Given the description of an element on the screen output the (x, y) to click on. 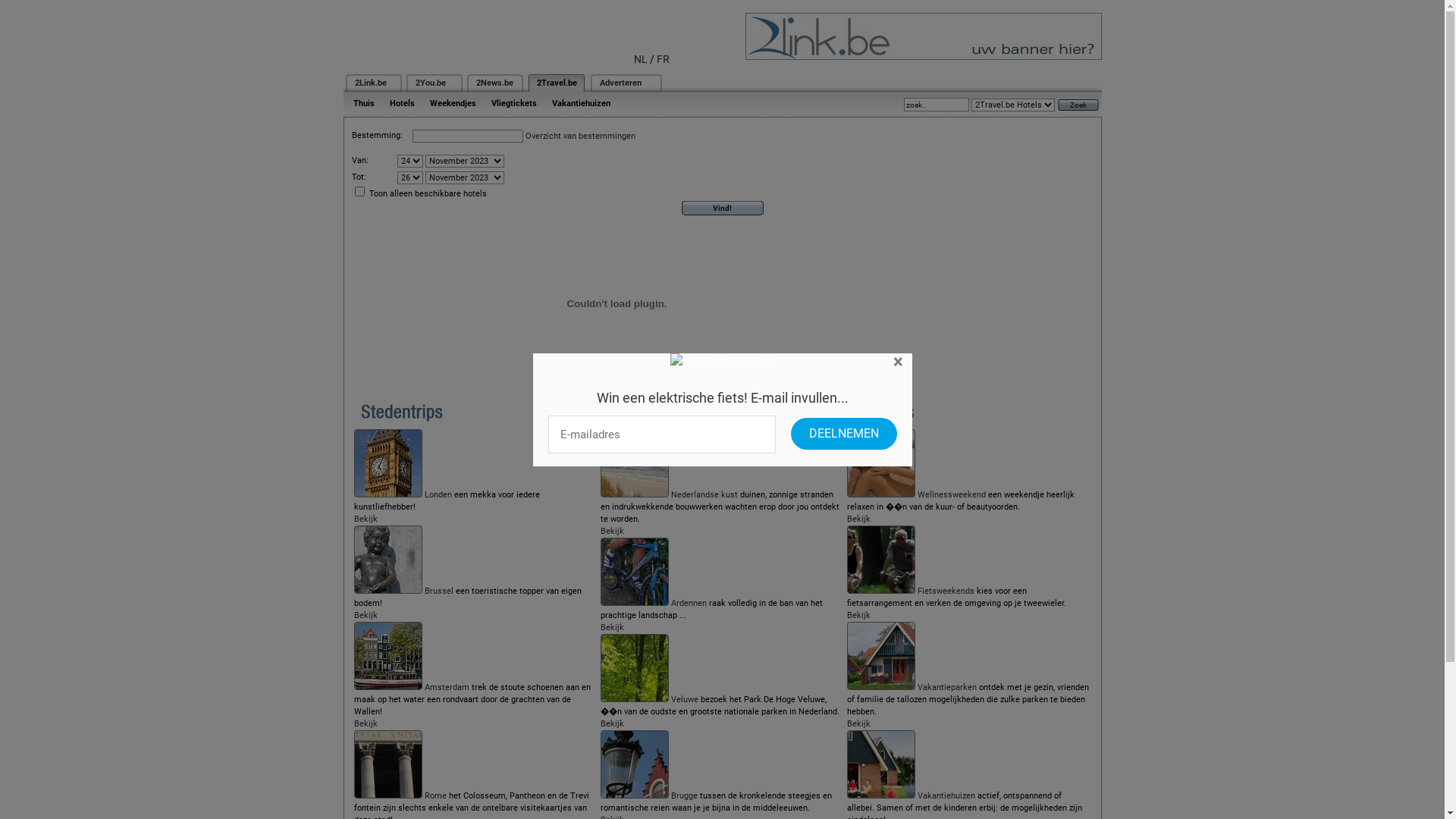
FR Element type: text (662, 59)
Bekijk Element type: text (612, 531)
Wellnessweekend Element type: text (951, 494)
Bekijk Element type: text (364, 519)
Overzicht van bestemmingen Element type: text (579, 136)
Nederlandse kust Element type: text (704, 494)
Hotels Element type: text (402, 103)
NL Element type: text (640, 59)
Vakantiehuizen Element type: text (946, 795)
Brussel Element type: text (438, 591)
Veluwe Element type: text (684, 699)
Vind! Element type: text (722, 207)
Bekijk Element type: text (612, 627)
2News.be Element type: text (494, 82)
Londen Element type: text (437, 494)
Vliegtickets Element type: text (513, 103)
Bekijk Element type: text (858, 723)
Bekijk Element type: text (858, 519)
Amsterdam Element type: text (446, 687)
Weekendjes Element type: text (452, 103)
Zoek Element type: text (1077, 103)
2You.be Element type: text (430, 82)
2Travel.be Element type: text (556, 82)
Adverteren Element type: text (619, 82)
Thuis Element type: text (363, 103)
Ardennen Element type: text (688, 603)
Fietsweekends Element type: text (945, 591)
Bekijk Element type: text (364, 615)
Bekijk Element type: text (612, 723)
Vakantieparken Element type: text (946, 687)
Bekijk Element type: text (858, 615)
Bekijk Element type: text (364, 723)
Vakantiehuizen Element type: text (581, 103)
2Link.be Element type: text (370, 82)
Rome Element type: text (435, 795)
Brugge Element type: text (684, 795)
